Given the description of an element on the screen output the (x, y) to click on. 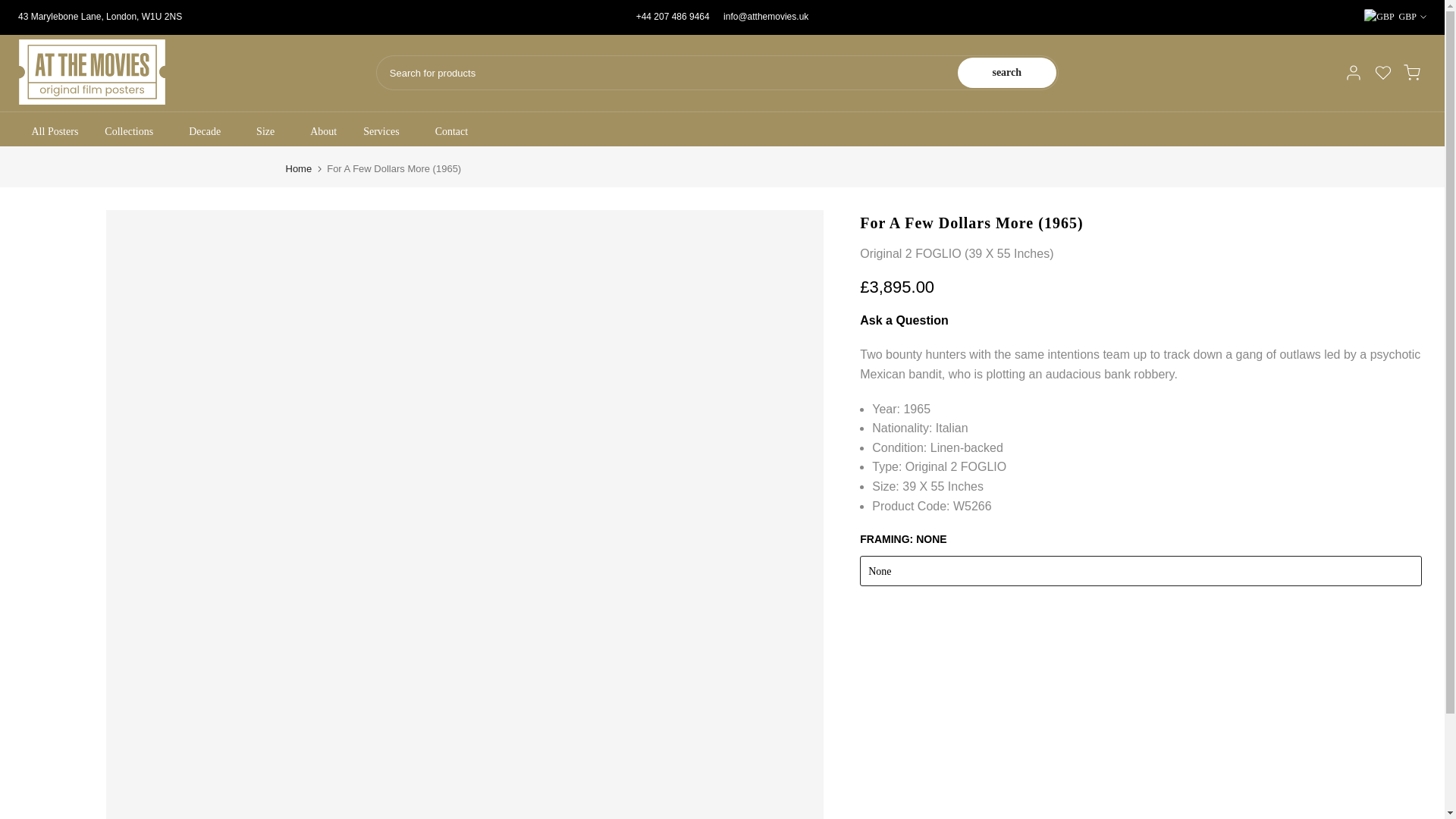
Decade (209, 131)
Contact (451, 131)
Size (270, 131)
GBP (1395, 17)
Home (298, 168)
Ask a Question (903, 319)
All Posters (54, 131)
Skip to content (10, 7)
About (323, 131)
search (1007, 72)
